Given the description of an element on the screen output the (x, y) to click on. 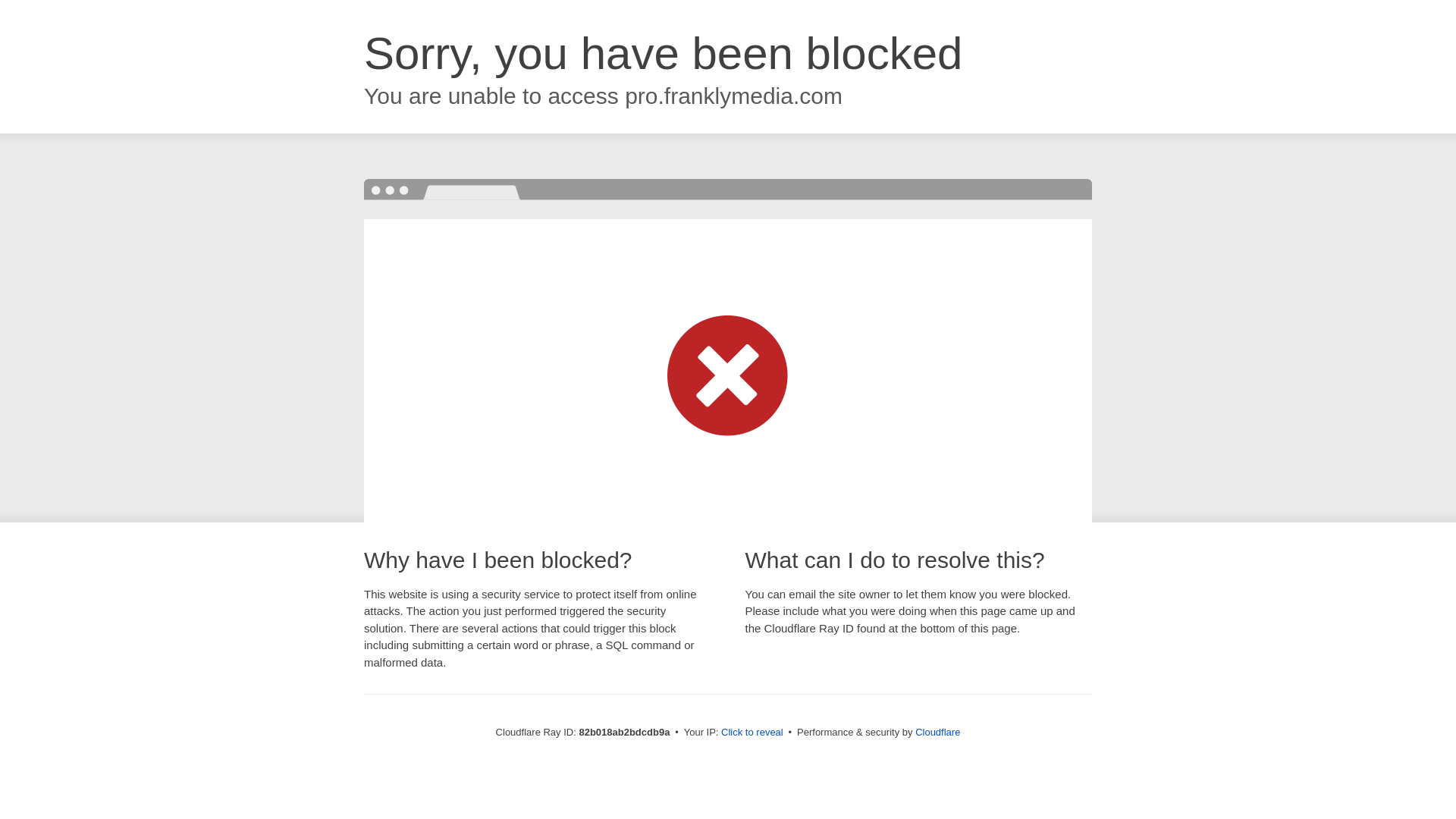
Click to reveal Element type: text (752, 732)
Cloudflare Element type: text (937, 731)
